Given the description of an element on the screen output the (x, y) to click on. 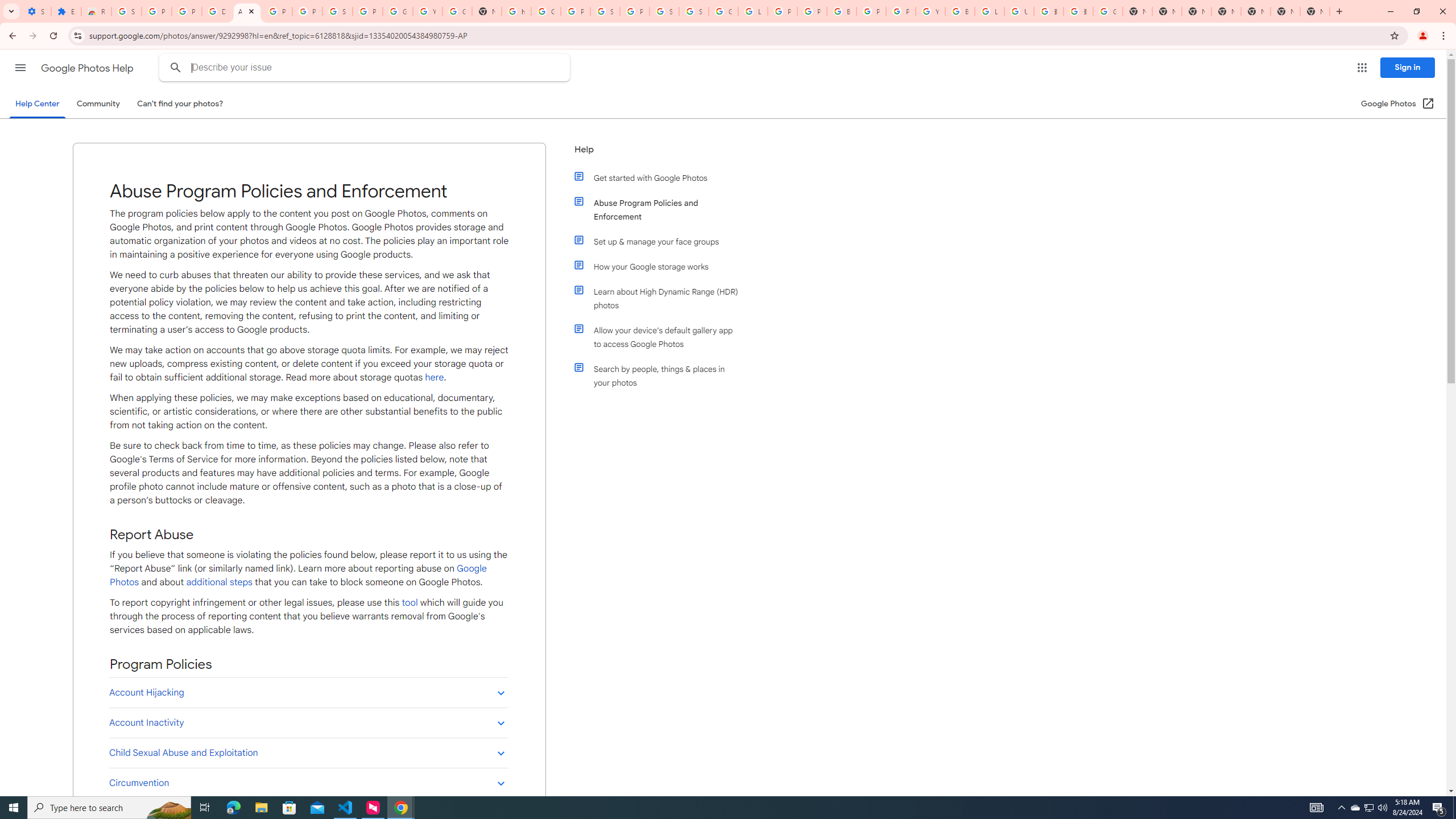
Community (97, 103)
Can't find your photos? (180, 103)
Google Photos (Open in a new window) (1397, 103)
Learn about High Dynamic Range (HDR) photos (661, 298)
